Given the description of an element on the screen output the (x, y) to click on. 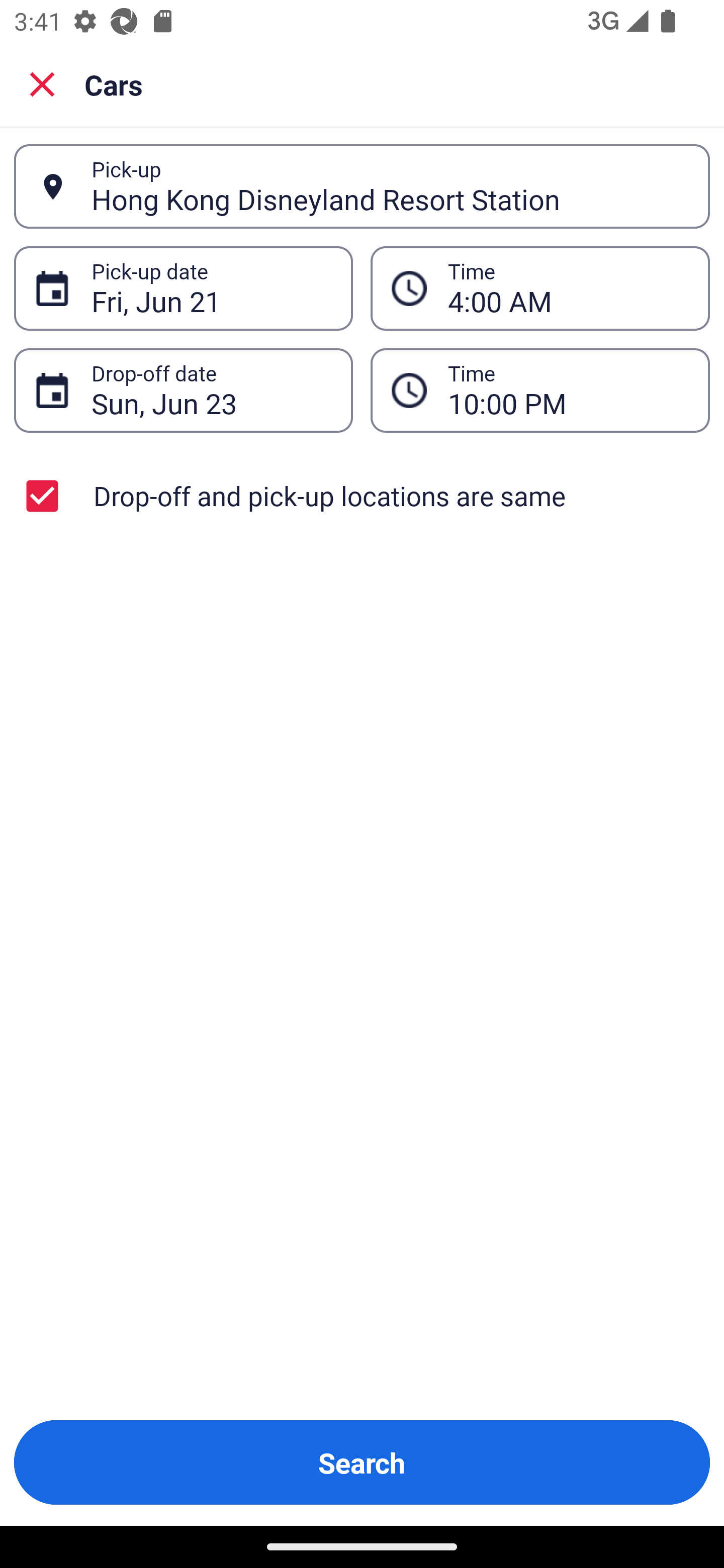
Close search screen (41, 83)
Hong Kong Disneyland Resort Station Pick-up (361, 186)
Hong Kong Disneyland Resort Station (389, 186)
Fri, Jun 21 Pick-up date (183, 288)
4:00 AM (540, 288)
Fri, Jun 21 (211, 288)
4:00 AM (568, 288)
Sun, Jun 23 Drop-off date (183, 390)
10:00 PM (540, 390)
Sun, Jun 23 (211, 390)
10:00 PM (568, 390)
Drop-off and pick-up locations are same (361, 495)
Search Button Search (361, 1462)
